Given the description of an element on the screen output the (x, y) to click on. 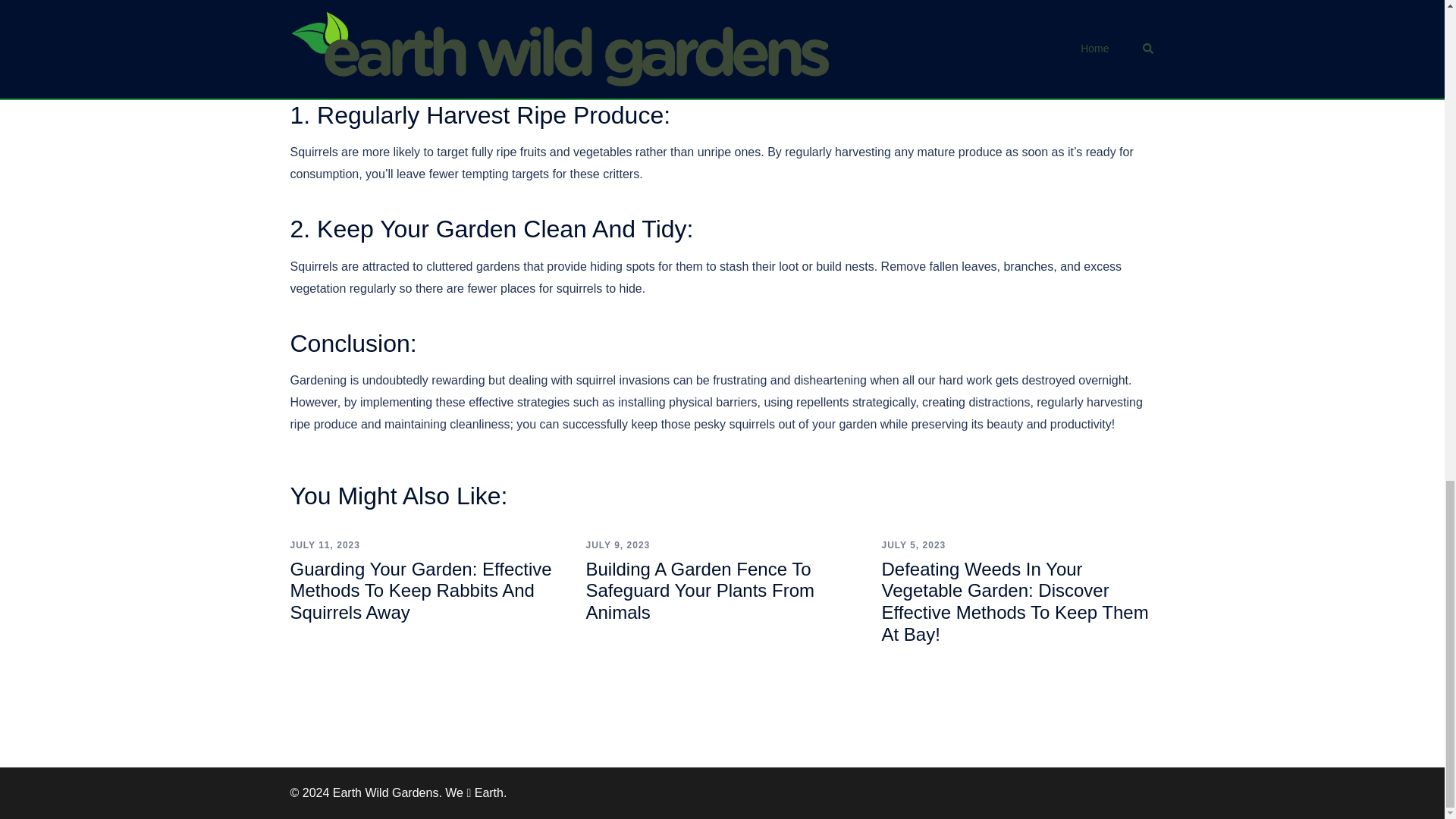
JULY 9, 2023 (617, 544)
JULY 5, 2023 (912, 544)
JULY 11, 2023 (324, 544)
